Given the description of an element on the screen output the (x, y) to click on. 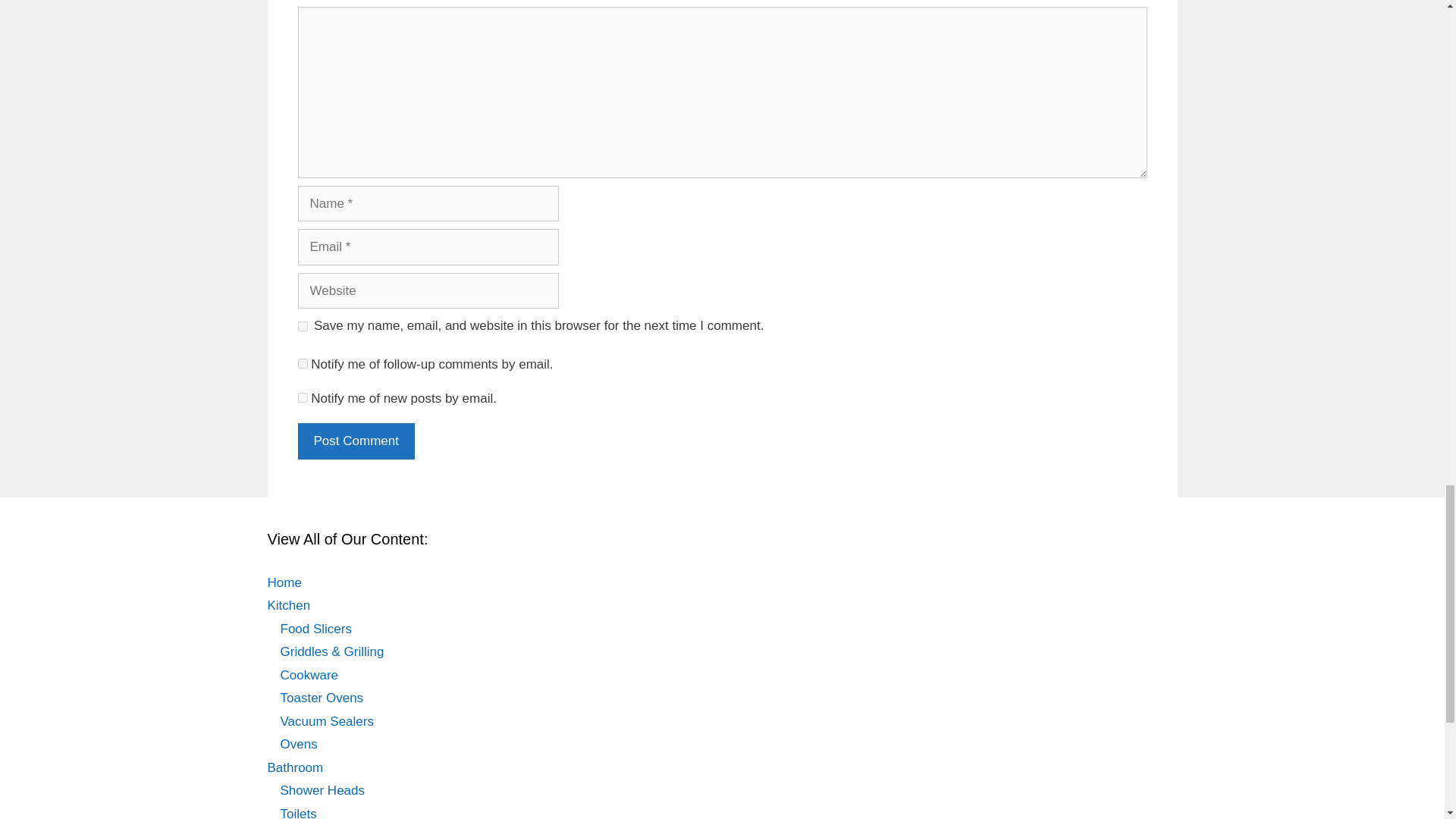
Post Comment (355, 441)
subscribe (302, 397)
yes (302, 326)
subscribe (302, 363)
